Given the description of an element on the screen output the (x, y) to click on. 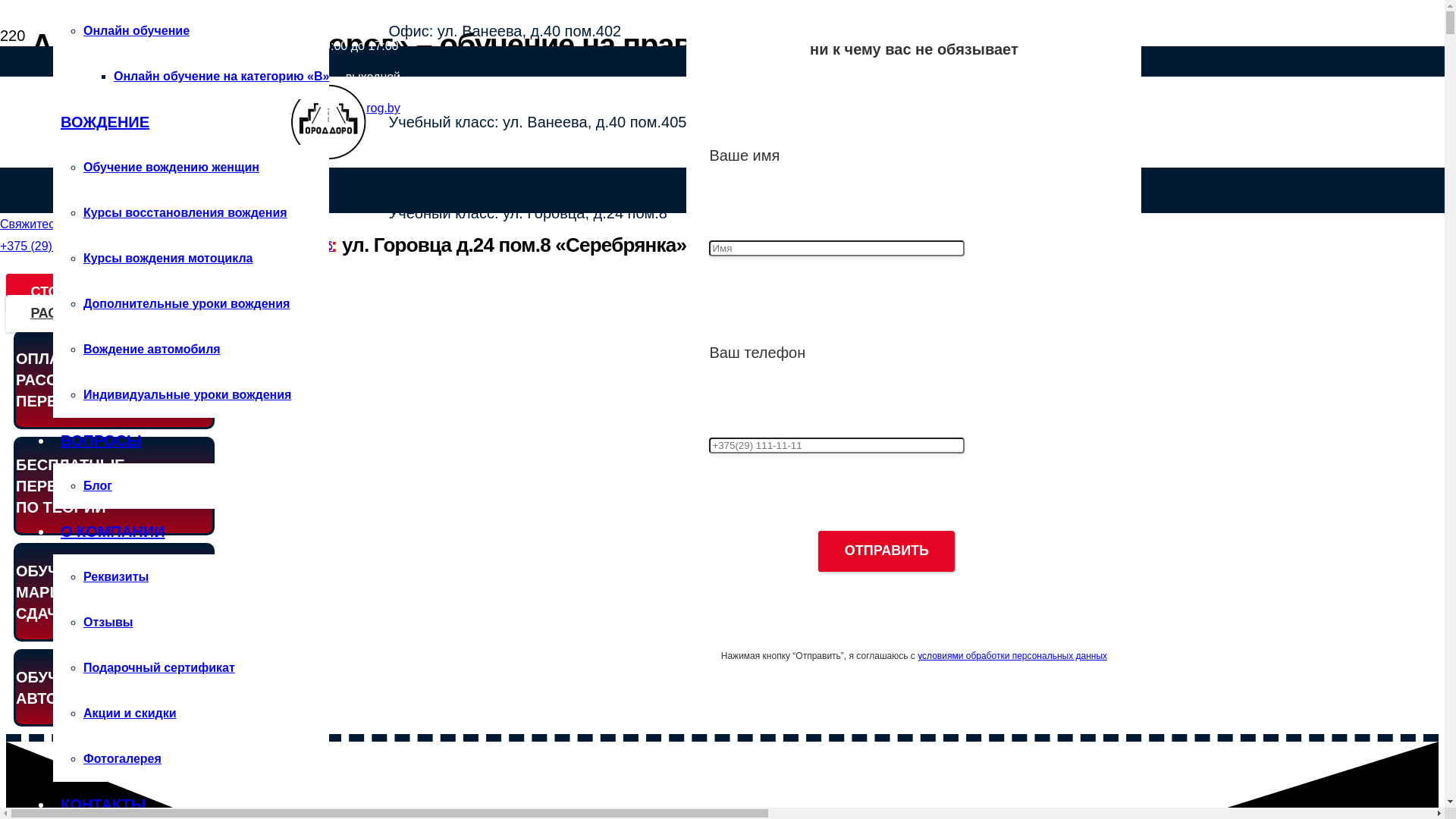
info@goroddorog.by Element type: text (344, 107)
+375 (29) 667-96-96 Element type: text (55, 245)
+375 (33) 667-96-96 Element type: text (165, 245)
+375 (25) 667-96-96 Element type: text (277, 245)
